Given the description of an element on the screen output the (x, y) to click on. 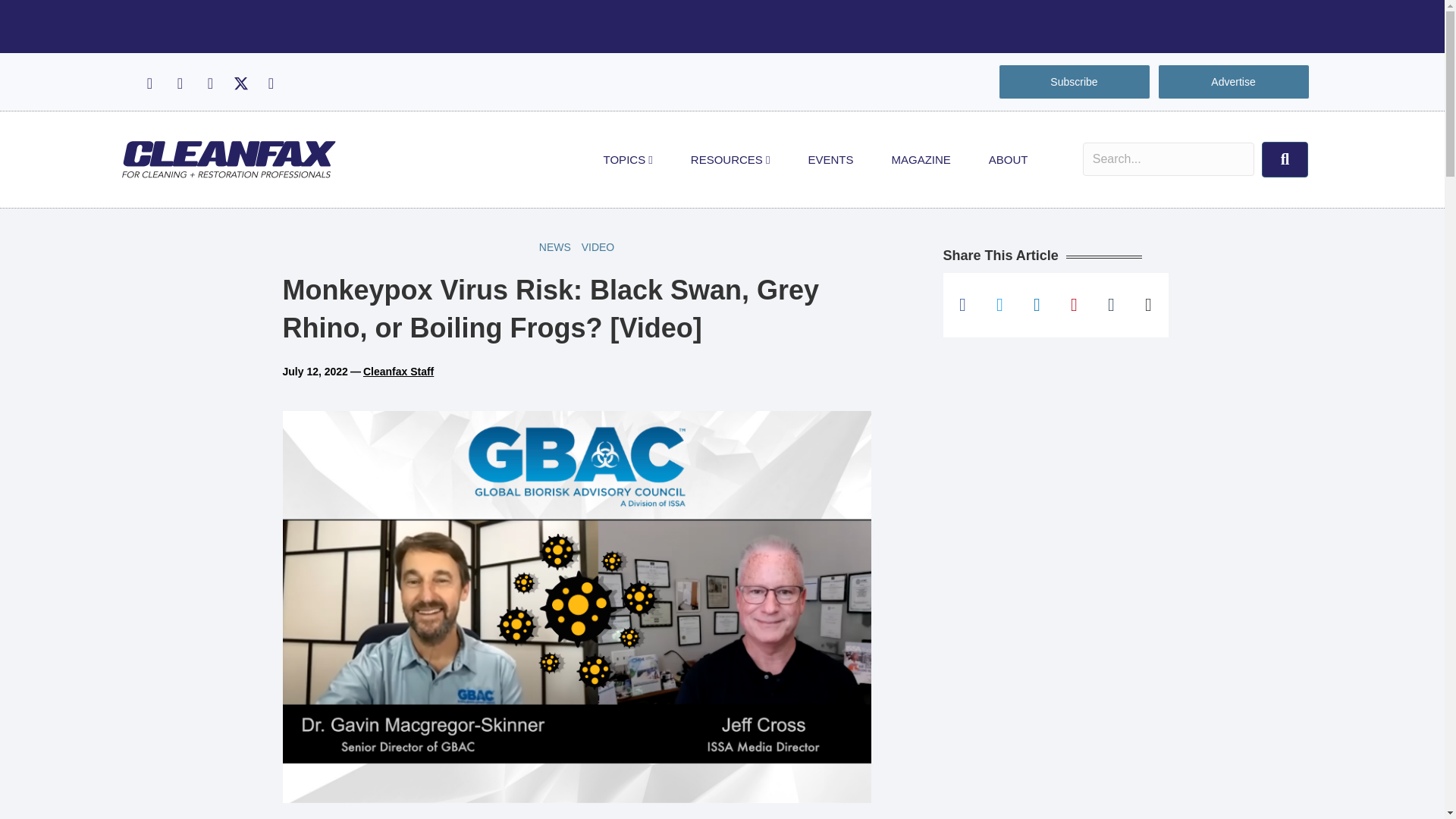
Advertise (1232, 81)
VIDEO (598, 247)
MAGAZINE (920, 159)
TOPICS (628, 159)
Facebook (149, 83)
NEWS (555, 247)
Instagram (179, 83)
LinkedIn (209, 83)
ABOUT (1007, 159)
